Given the description of an element on the screen output the (x, y) to click on. 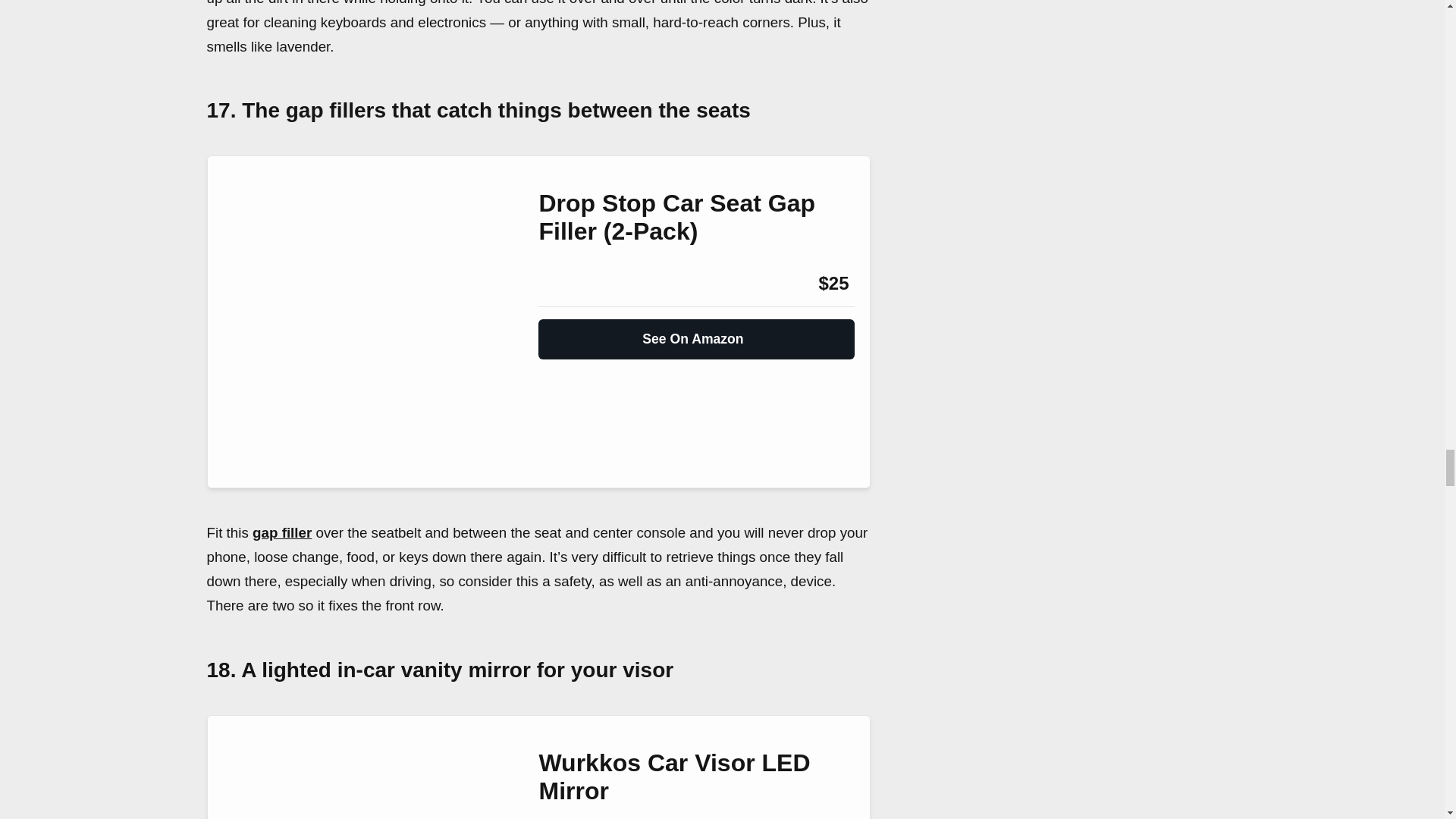
Amazon (579, 283)
